Given the description of an element on the screen output the (x, y) to click on. 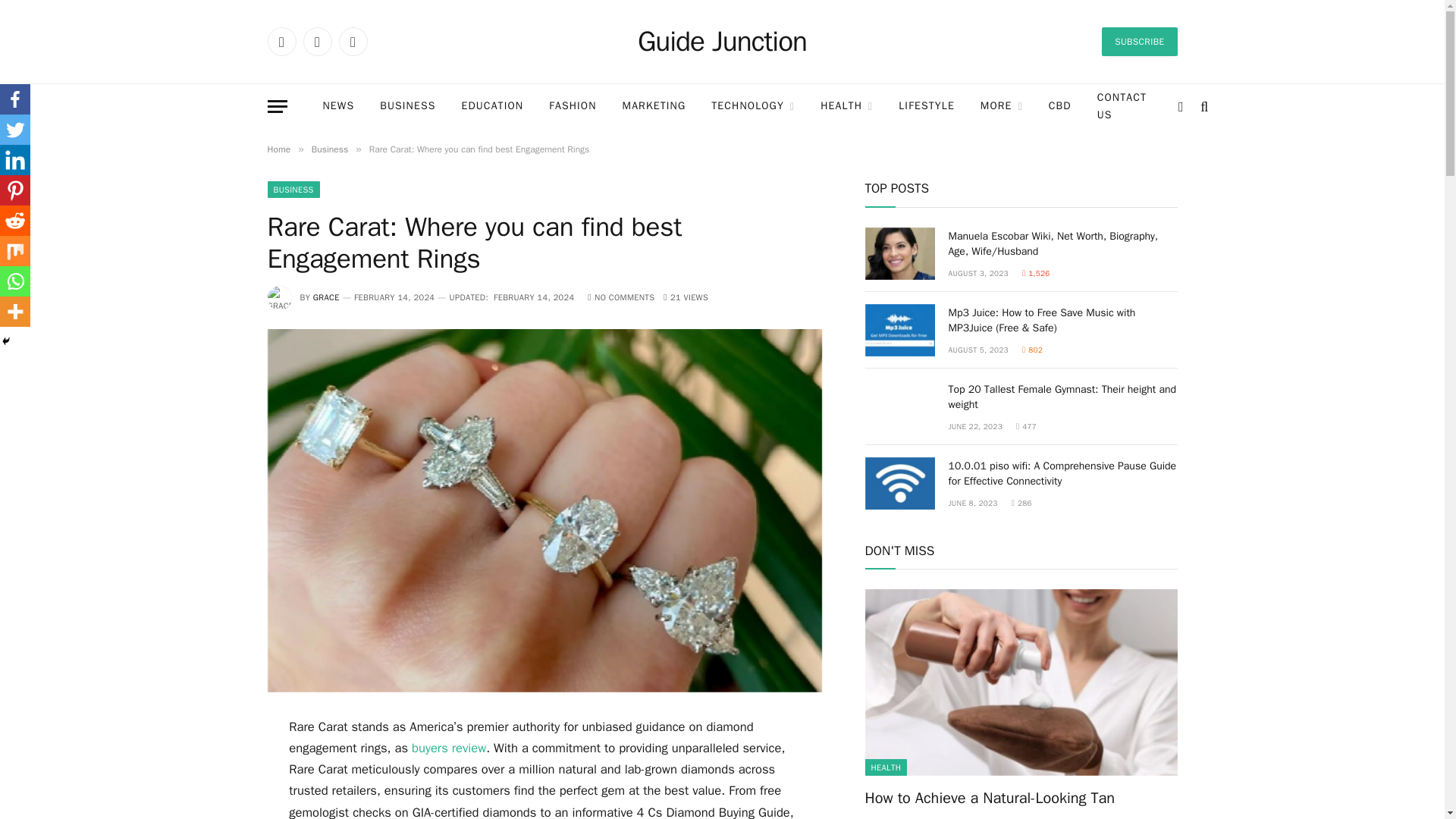
BUSINESS (407, 106)
FASHION (571, 106)
Guide Junction (721, 41)
Switch to Dark Design - easier on eyes. (1180, 106)
NEWS (337, 106)
Guide Junction (721, 41)
MORE (1001, 106)
Home (277, 149)
HEALTH (846, 106)
SUBSCRIBE (1139, 41)
Posts by Grace (326, 296)
TECHNOLOGY (753, 106)
Facebook (280, 41)
CONTACT US (1121, 106)
